Given the description of an element on the screen output the (x, y) to click on. 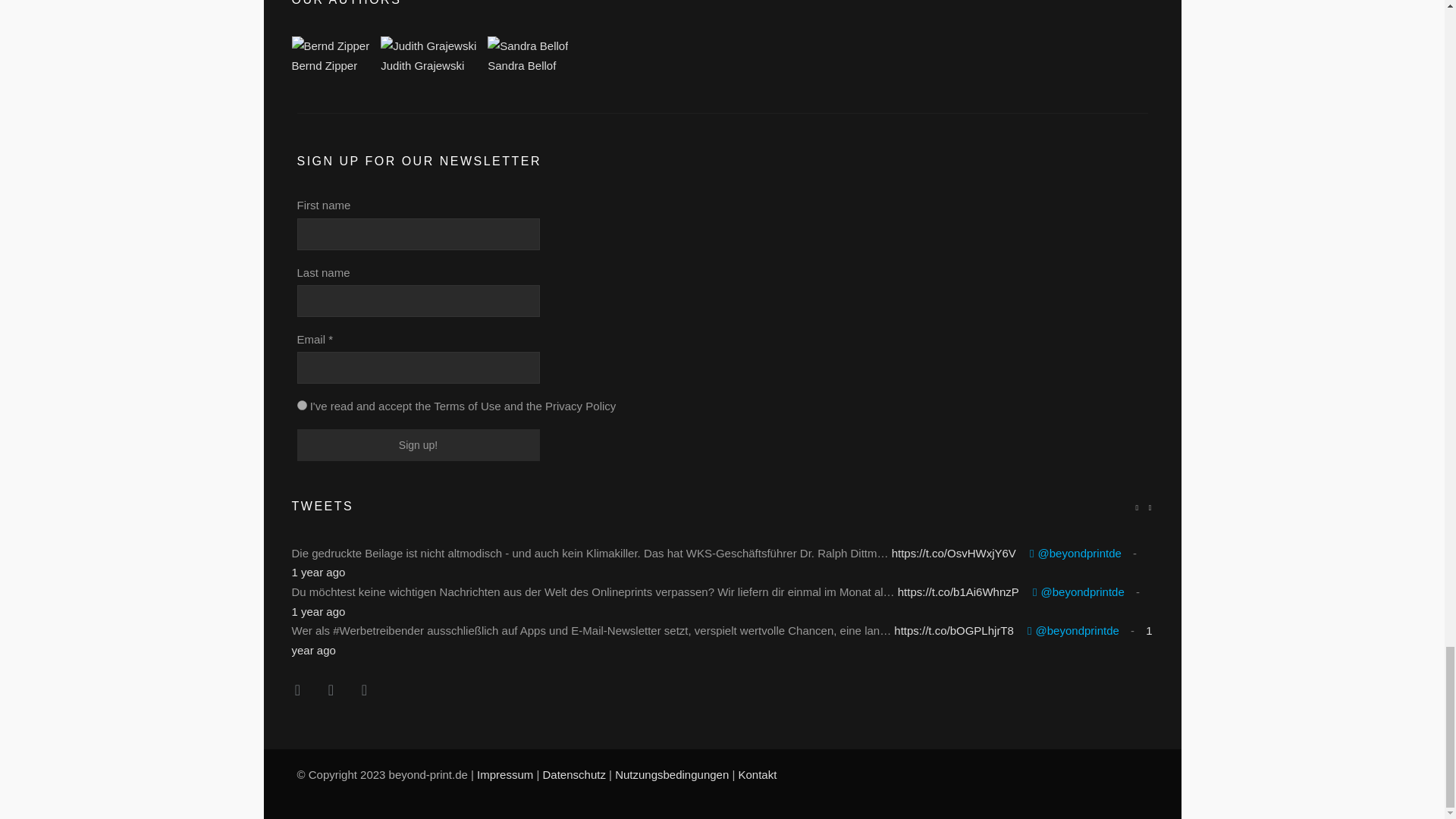
Sign up! (418, 445)
I've read and accept the Terms of Use and the Privacy Policy (302, 405)
